Given the description of an element on the screen output the (x, y) to click on. 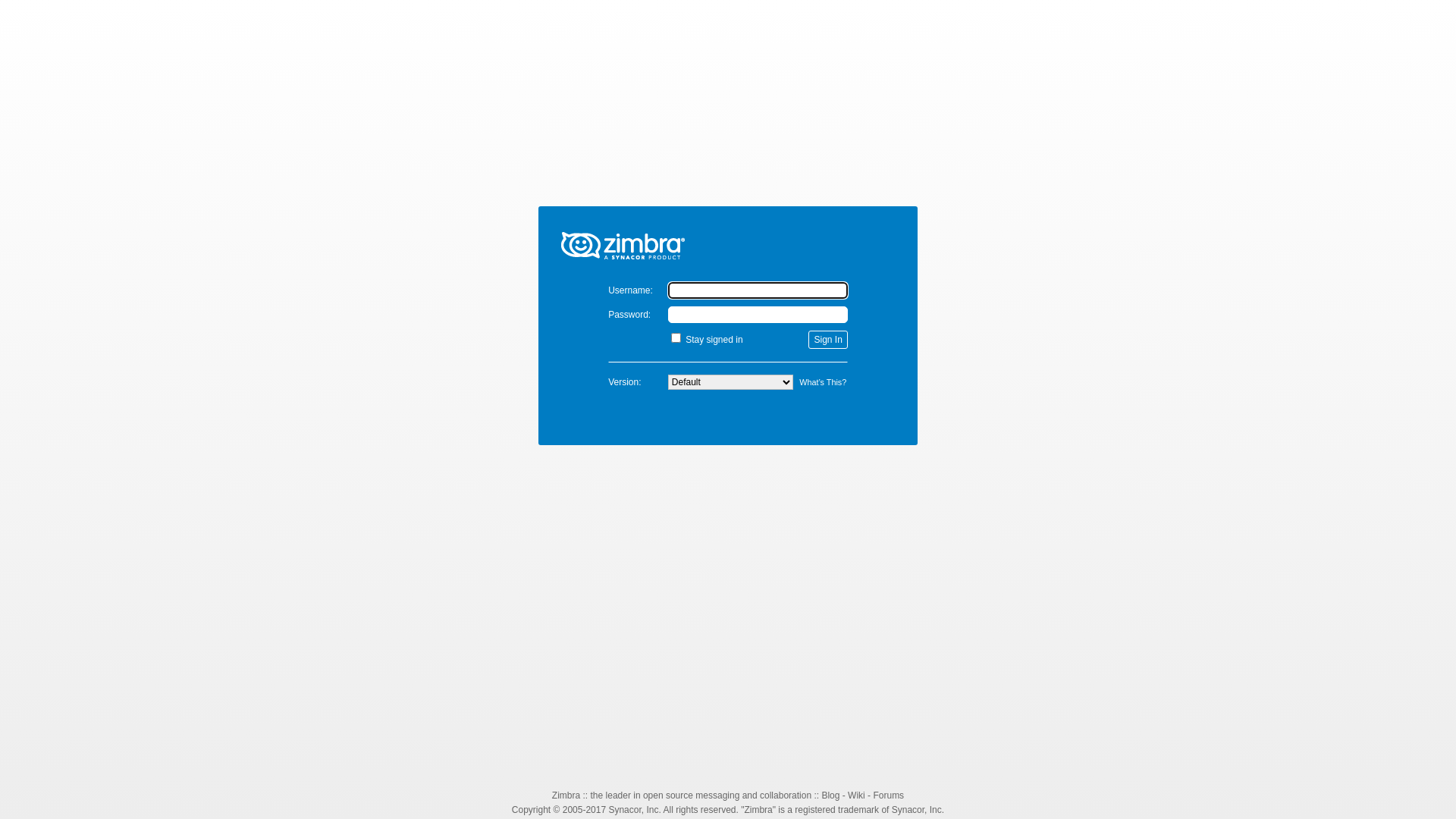
Wiki Element type: text (856, 795)
Blog Element type: text (830, 795)
Zimbra Element type: text (727, 236)
Sign In Element type: text (827, 339)
Forums Element type: text (887, 795)
Zimbra Element type: text (566, 795)
